Given the description of an element on the screen output the (x, y) to click on. 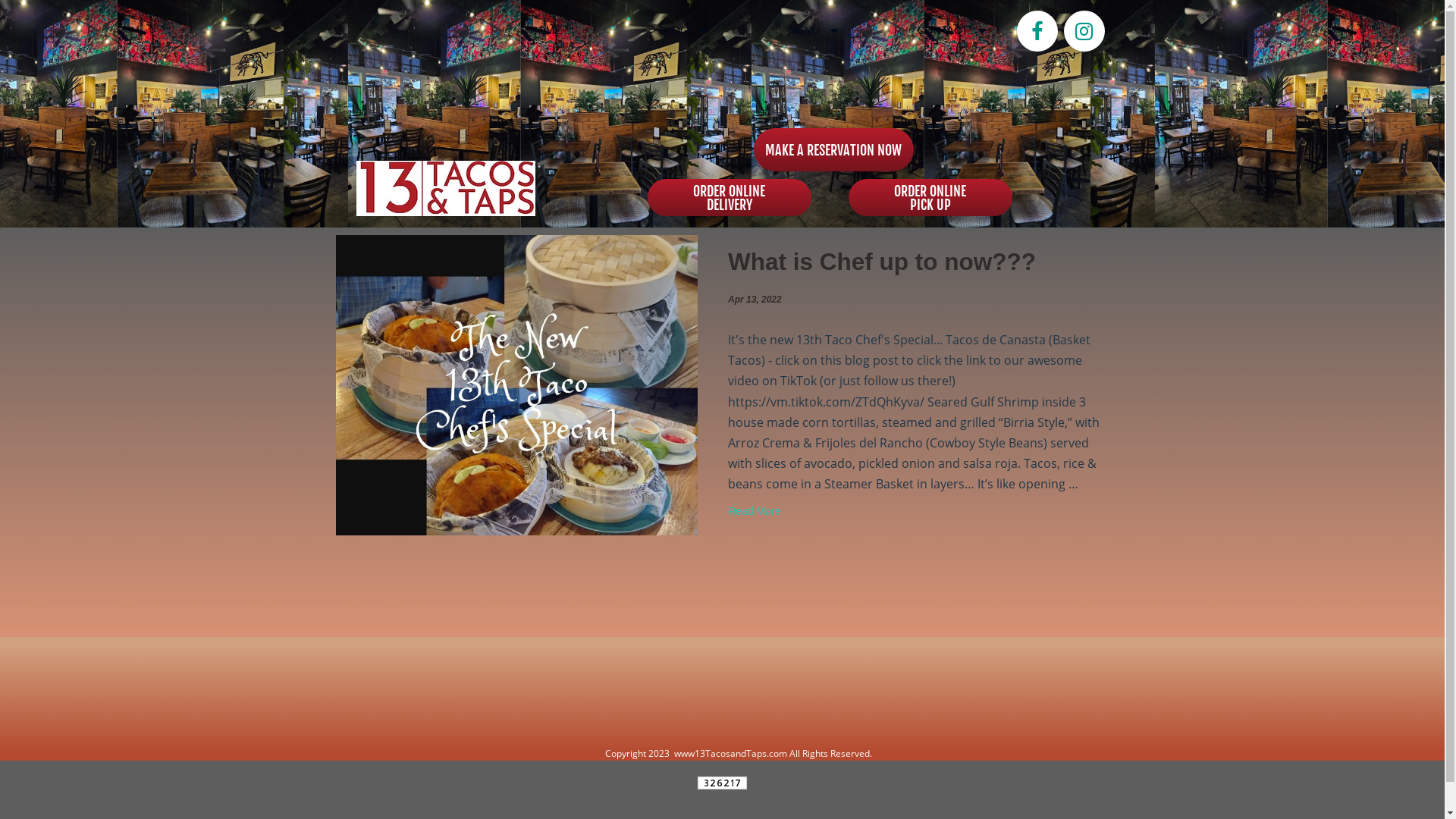
ORDER ONLINE
PICK UP Element type: text (929, 197)
BLOG Element type: text (692, 32)
CONTACT Element type: text (951, 32)
ORDER ONLINE
DELIVERY Element type: text (729, 197)
What is Chef up to now??? Element type: text (881, 261)
MENU Element type: text (821, 32)
HOME Element type: text (563, 32)
Read More Element type: text (754, 511)
MAKE A RESERVATION NOW Element type: text (833, 149)
